Given the description of an element on the screen output the (x, y) to click on. 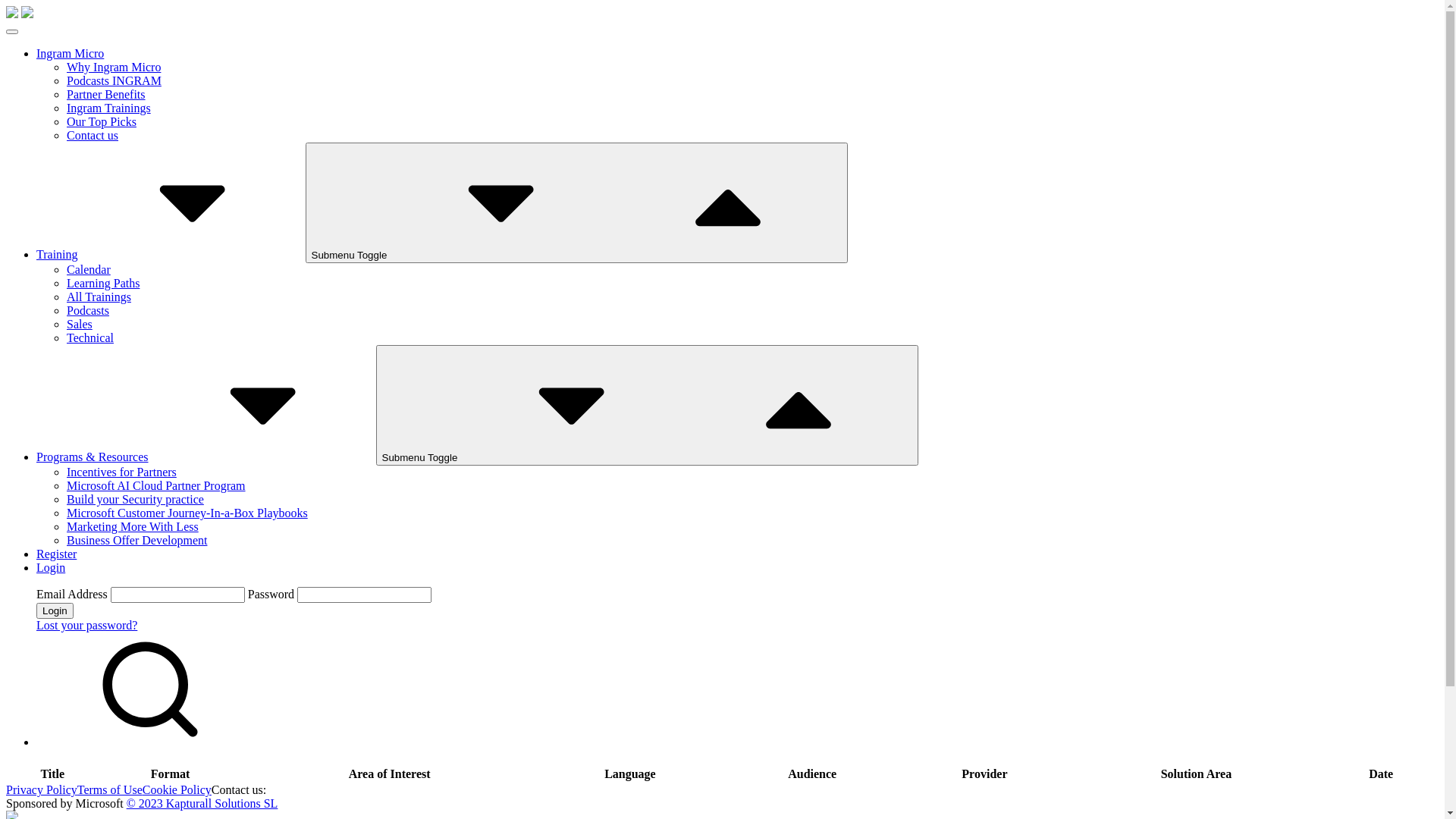
Incentives for Partners Element type: text (121, 471)
Submenu Toggle Element type: text (576, 202)
Contact us: Element type: text (238, 789)
Partner Benefits Element type: text (105, 93)
Microsoft AI Cloud Partner Program Element type: text (155, 485)
Submenu Toggle Element type: text (647, 405)
Lost your password? Element type: text (86, 624)
Business Offer Development Element type: text (136, 539)
Build your Security practice Element type: text (134, 498)
Learning Paths Element type: text (102, 282)
Login Element type: text (54, 610)
Calendar Element type: text (88, 269)
Login Element type: text (50, 567)
Register Element type: text (56, 553)
Programs & Resources Element type: text (206, 456)
Cookie Policy Element type: text (176, 789)
Ingram Trainings Element type: text (108, 107)
Training Element type: text (170, 253)
Sales Element type: text (79, 323)
Our Top Picks Element type: text (101, 121)
Podcasts Element type: text (87, 310)
Ingram Micro Element type: text (69, 53)
Contact us Element type: text (92, 134)
Terms of Use Element type: text (109, 789)
Microsoft Customer Journey-In-a-Box Playbooks Element type: text (186, 512)
Why Ingram Micro Element type: text (113, 66)
Podcasts INGRAM Element type: text (113, 80)
Technical Element type: text (89, 337)
Privacy Policy Element type: text (41, 789)
Marketing More With Less Element type: text (132, 526)
All Trainings Element type: text (98, 296)
